Given the description of an element on the screen output the (x, y) to click on. 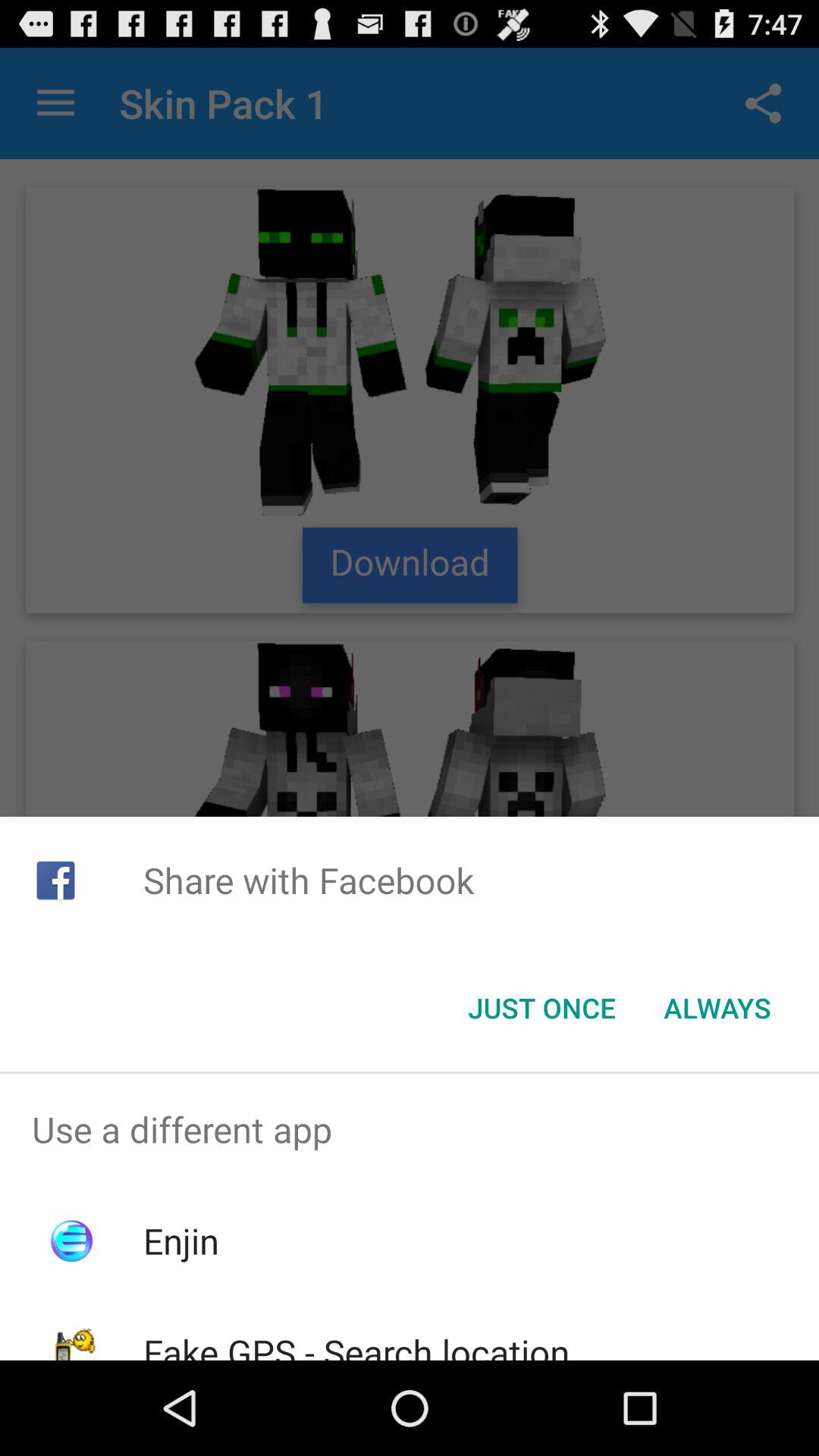
click the icon next to the always item (541, 1007)
